Given the description of an element on the screen output the (x, y) to click on. 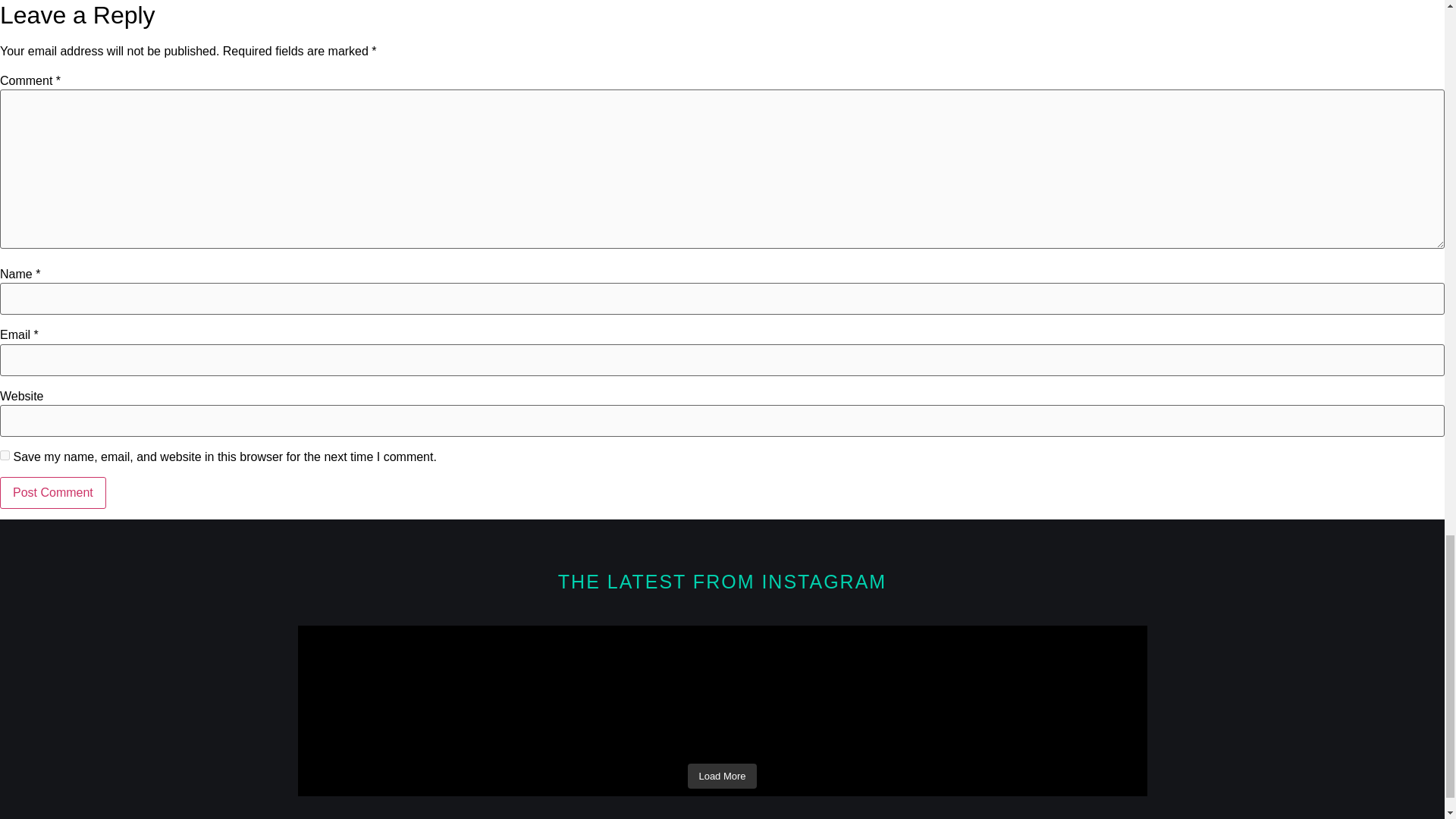
yes (5, 455)
Post Comment (53, 492)
Load More (721, 776)
Post Comment (53, 492)
